Given the description of an element on the screen output the (x, y) to click on. 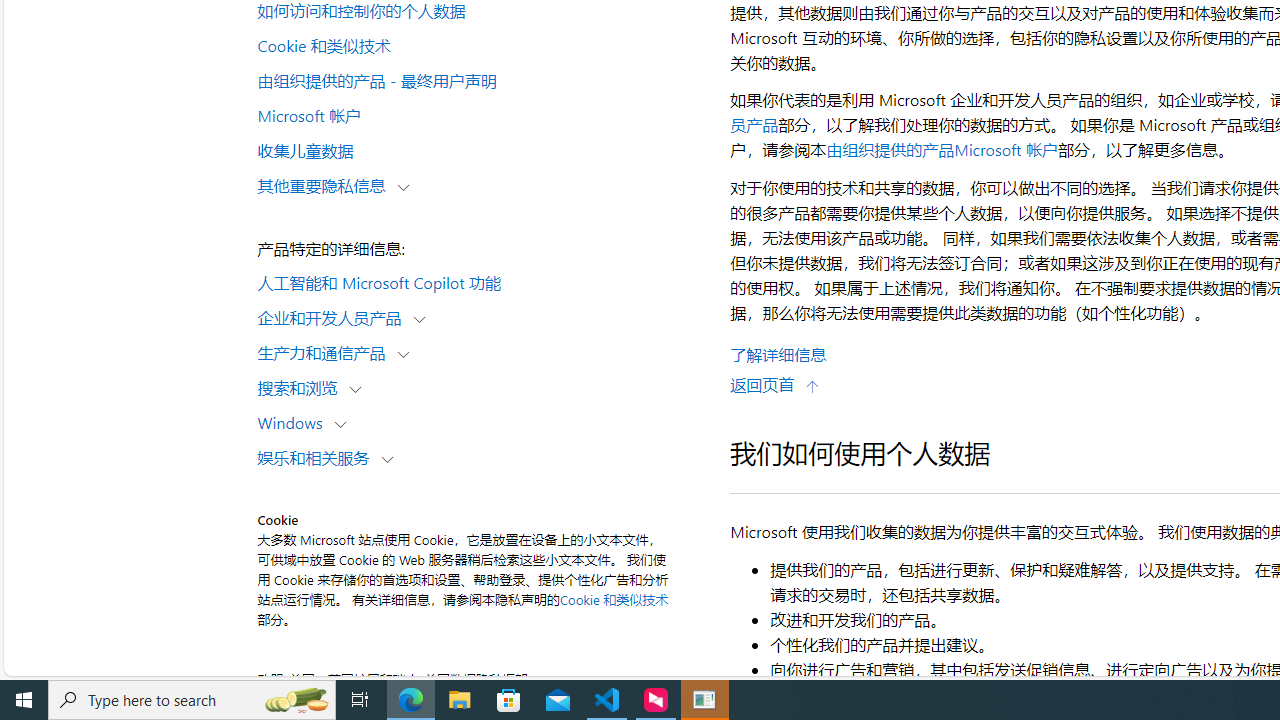
Windows (294, 421)
